Given the description of an element on the screen output the (x, y) to click on. 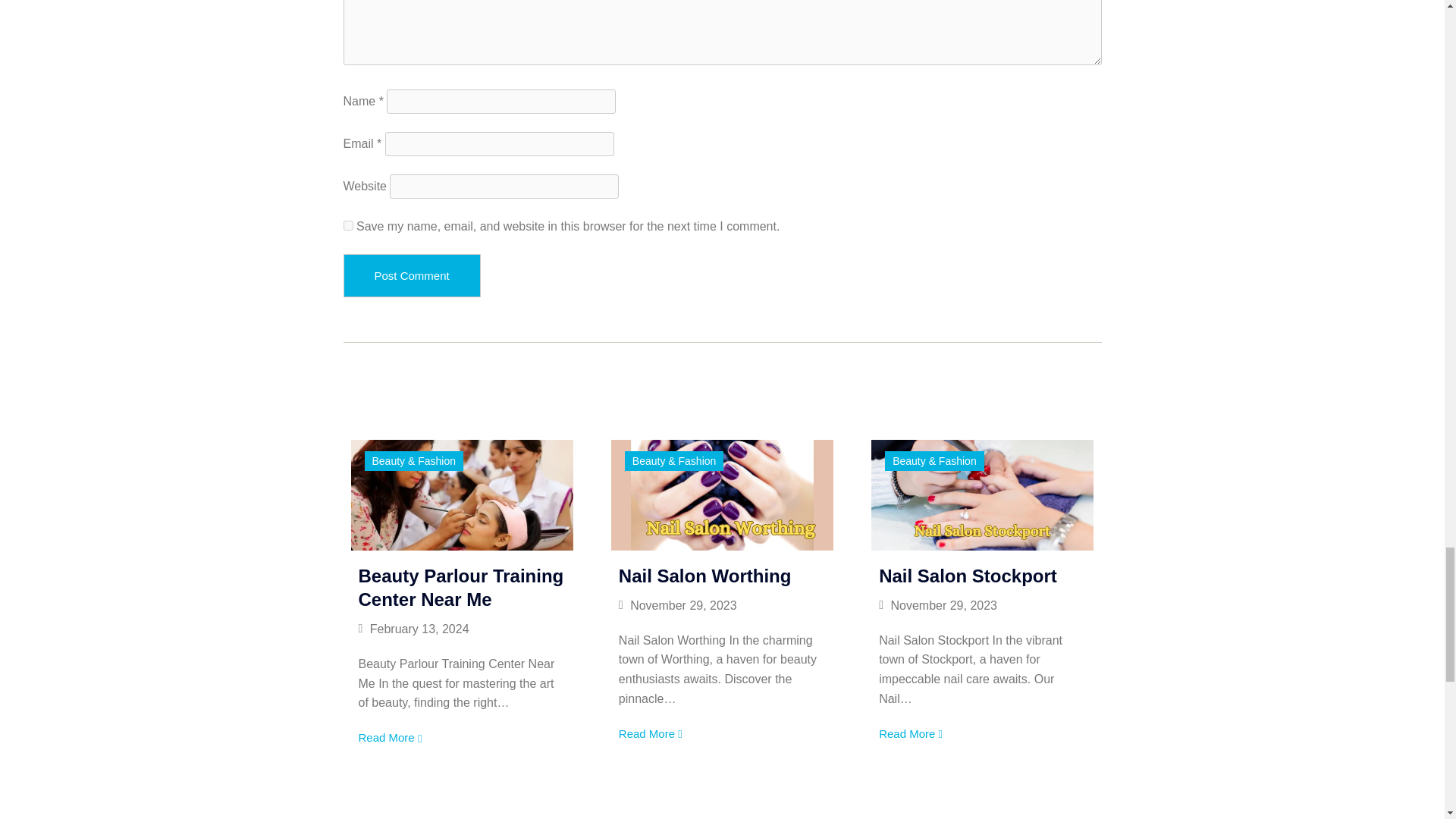
yes (347, 225)
Post Comment (411, 275)
